Given the description of an element on the screen output the (x, y) to click on. 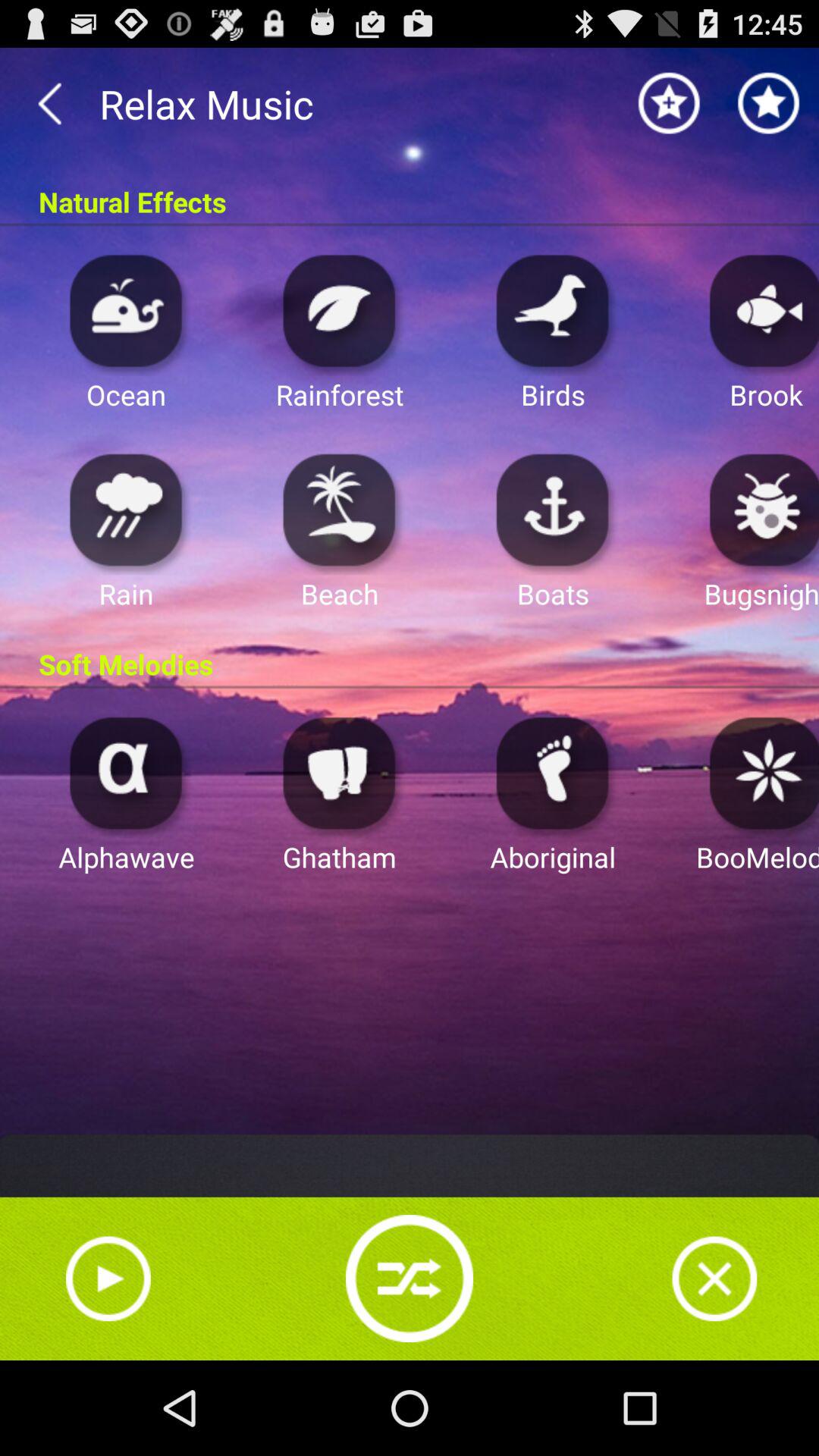
favourite (669, 103)
